Given the description of an element on the screen output the (x, y) to click on. 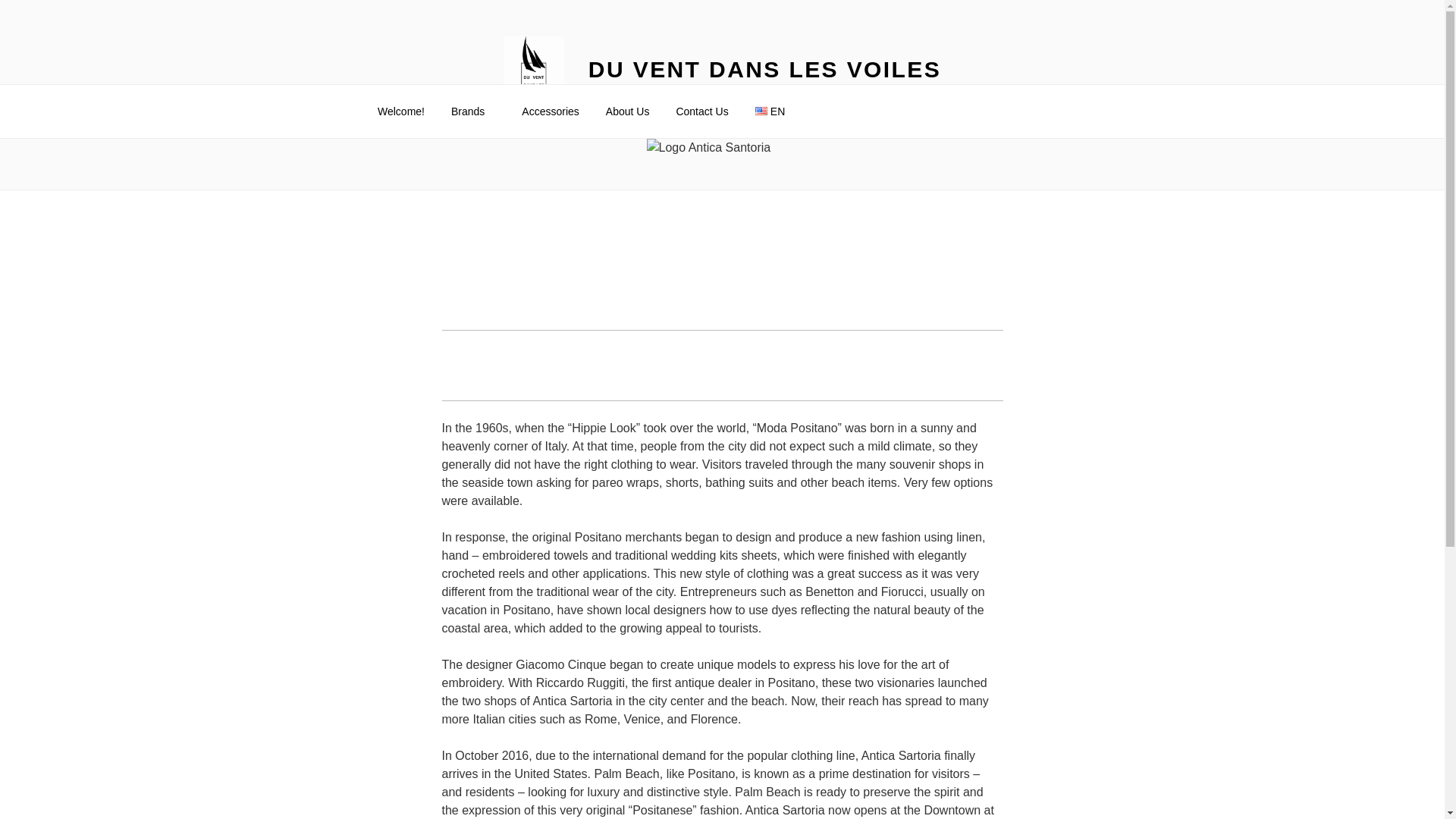
Contact Us (701, 110)
Accessories (550, 110)
DU VENT DANS LES VOILES (764, 68)
Brands (473, 110)
EN (775, 110)
Welcome! (401, 110)
About Us (627, 110)
